Given the description of an element on the screen output the (x, y) to click on. 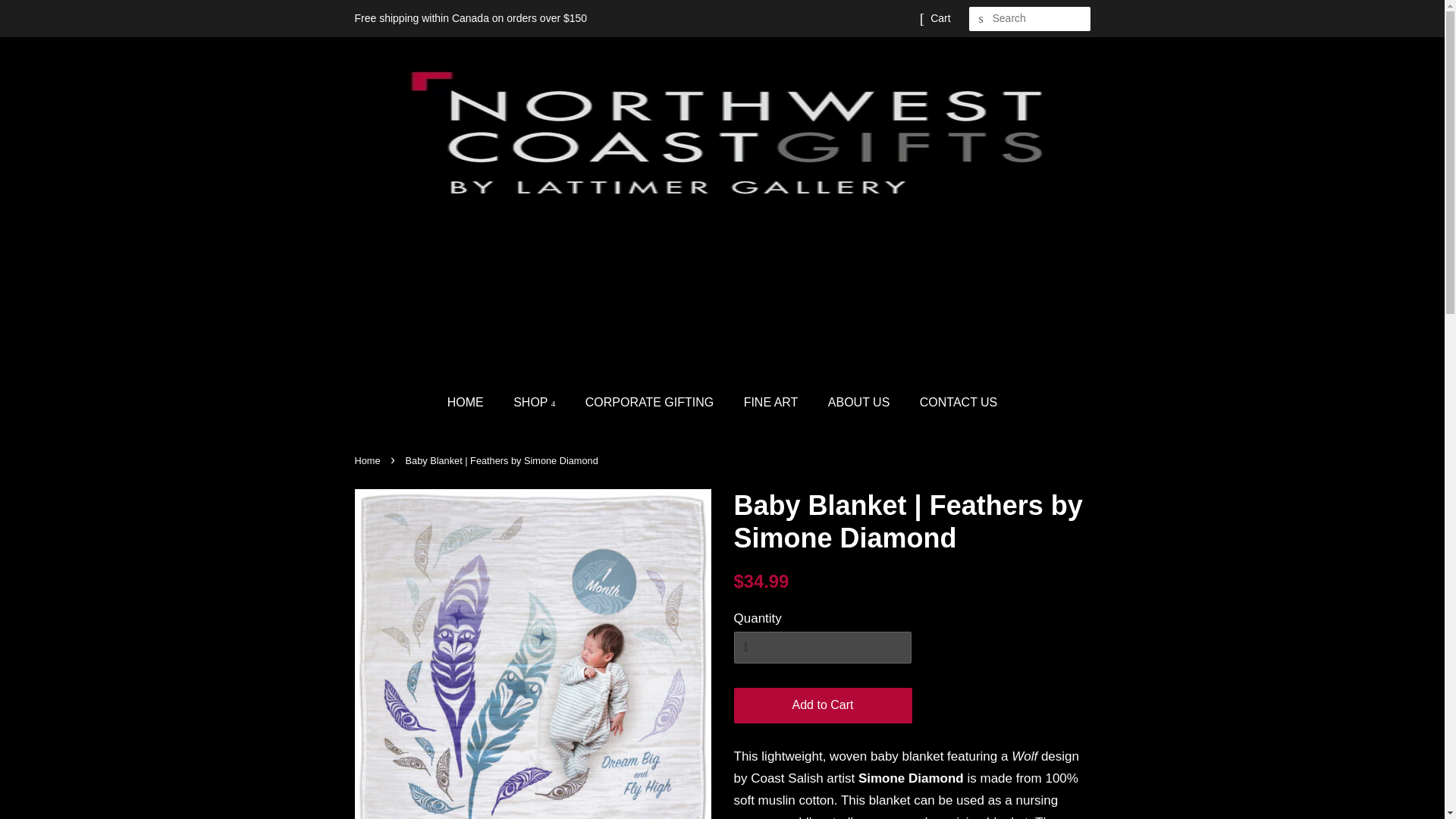
Back to the frontpage (369, 460)
Cart (940, 18)
Search (980, 18)
1 (822, 647)
